Given the description of an element on the screen output the (x, y) to click on. 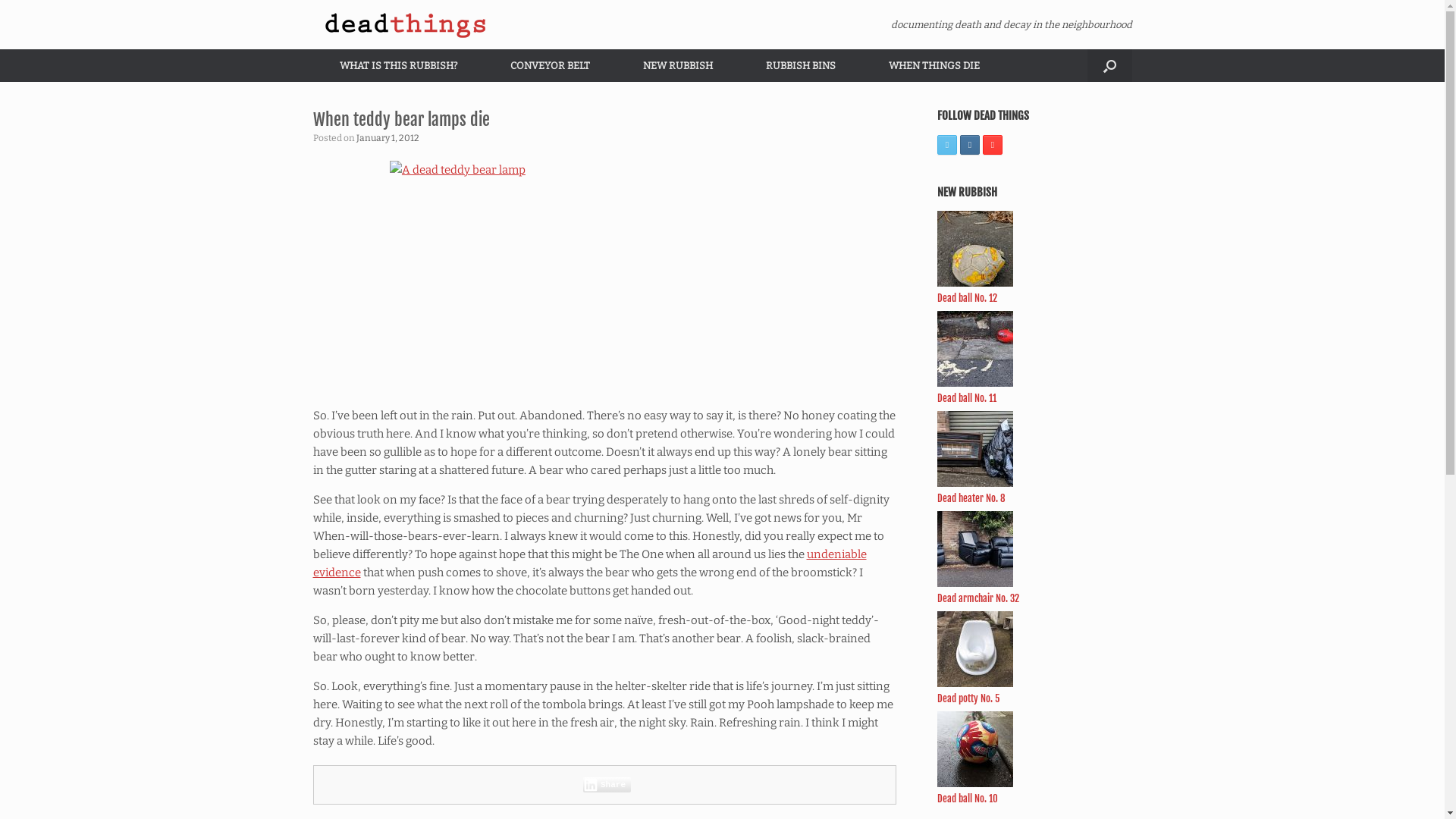
undeniable evidence Element type: text (589, 563)
Share Element type: text (606, 784)
RUBBISH BINS Element type: text (799, 65)
WHEN THINGS DIE Element type: text (933, 65)
dead things Instagram Element type: hover (969, 144)
Dead ball No. 10 Element type: text (967, 797)
WHAT IS THIS RUBBISH? Element type: text (397, 65)
dead things Twitter Element type: hover (947, 144)
January 1, 2012 Element type: text (387, 137)
dead things Element type: hover (407, 24)
dead things Pinterest Element type: hover (992, 144)
Dead armchair No. 32 Element type: text (978, 597)
Dead ball No. 12 Element type: text (967, 297)
Dead heater No. 8 Element type: text (971, 497)
CONVEYOR BELT Element type: text (549, 65)
Dead ball No. 11 Element type: text (966, 397)
Dead potty No. 5 Element type: text (968, 697)
NEW RUBBISH Element type: text (676, 65)
